Given the description of an element on the screen output the (x, y) to click on. 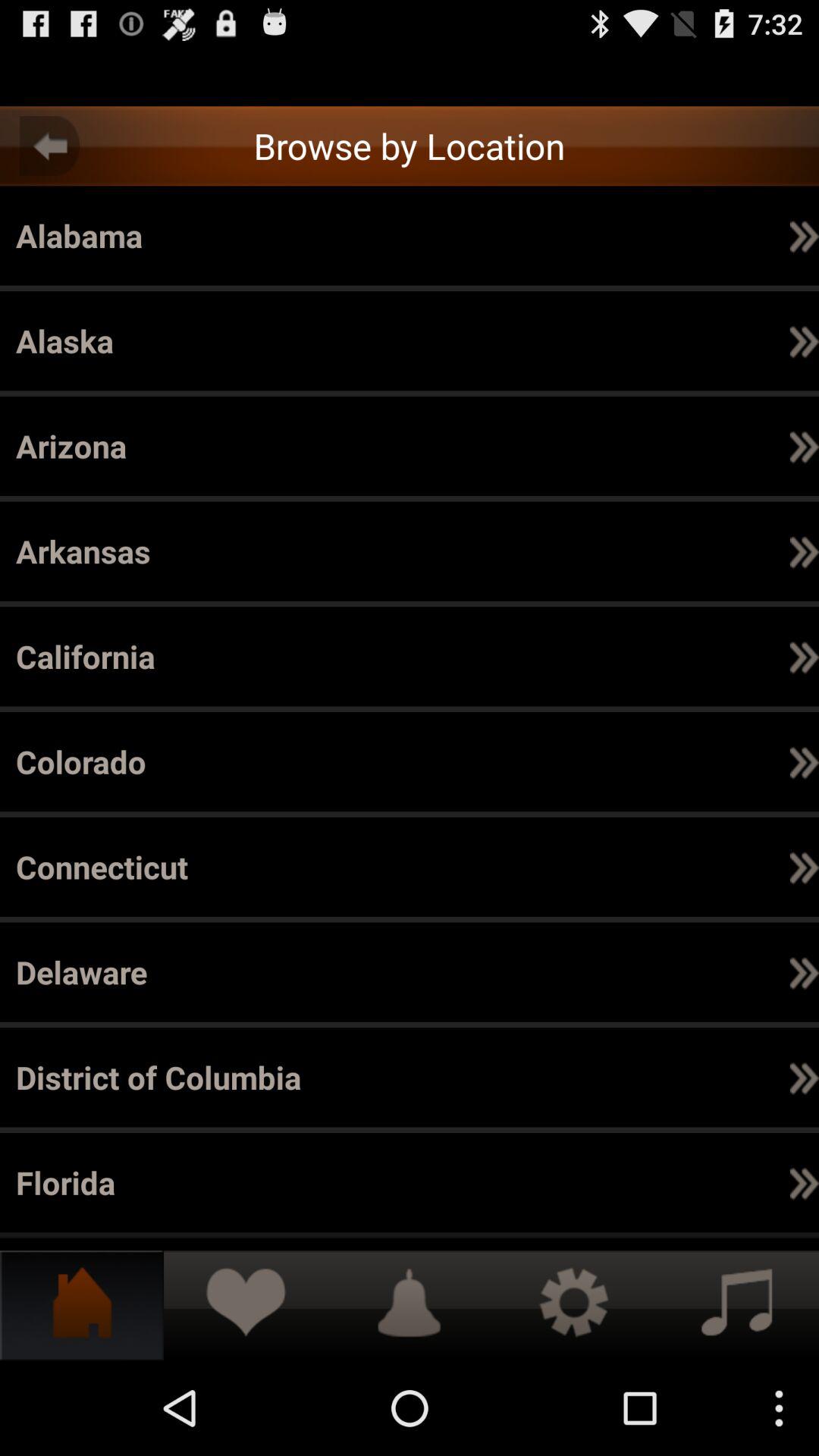
select item above   contra costa item (658, 761)
